Given the description of an element on the screen output the (x, y) to click on. 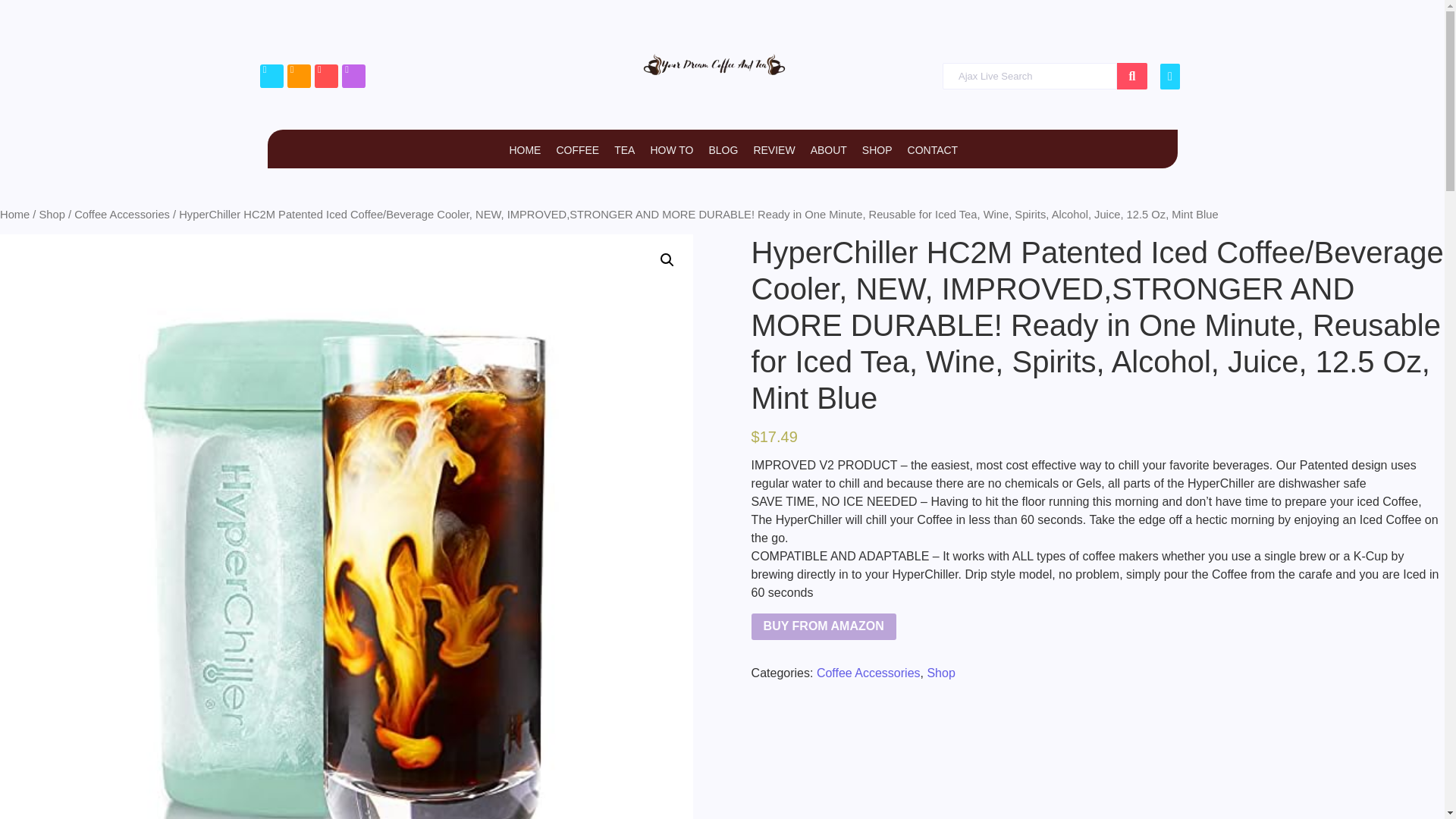
COFFEE (577, 150)
REVIEW (773, 150)
Search (1029, 76)
Shop (52, 214)
ABOUT (828, 150)
Coffee Accessories (122, 214)
HOW TO (671, 150)
SHOP (876, 150)
HOME (524, 150)
Home (14, 214)
